Given the description of an element on the screen output the (x, y) to click on. 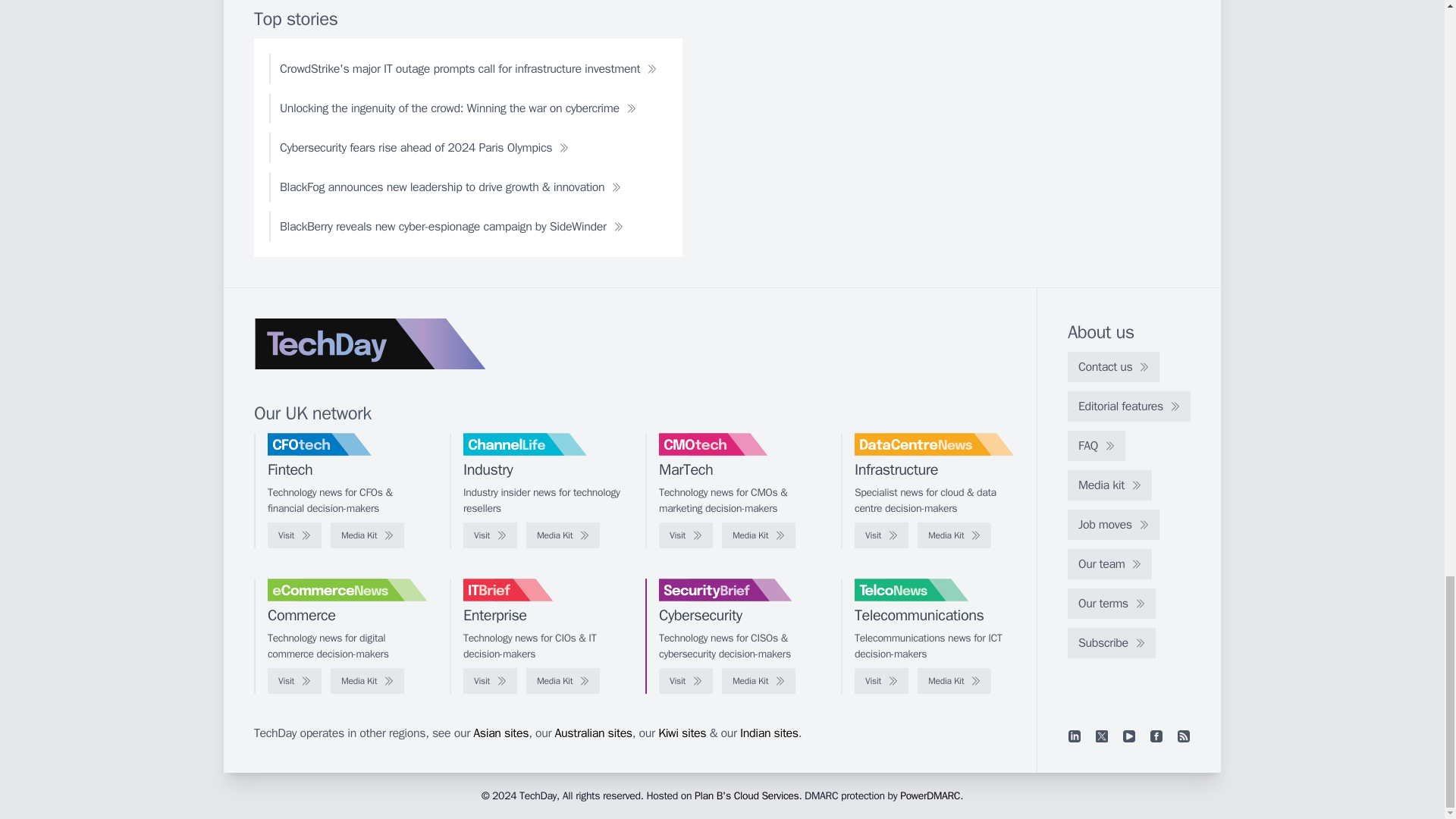
Cybersecurity fears rise ahead of 2024 Paris Olympics (424, 147)
Media Kit (758, 534)
Visit (489, 534)
Media Kit (367, 534)
Media Kit (562, 534)
Visit (294, 534)
Visit (686, 534)
